Given the description of an element on the screen output the (x, y) to click on. 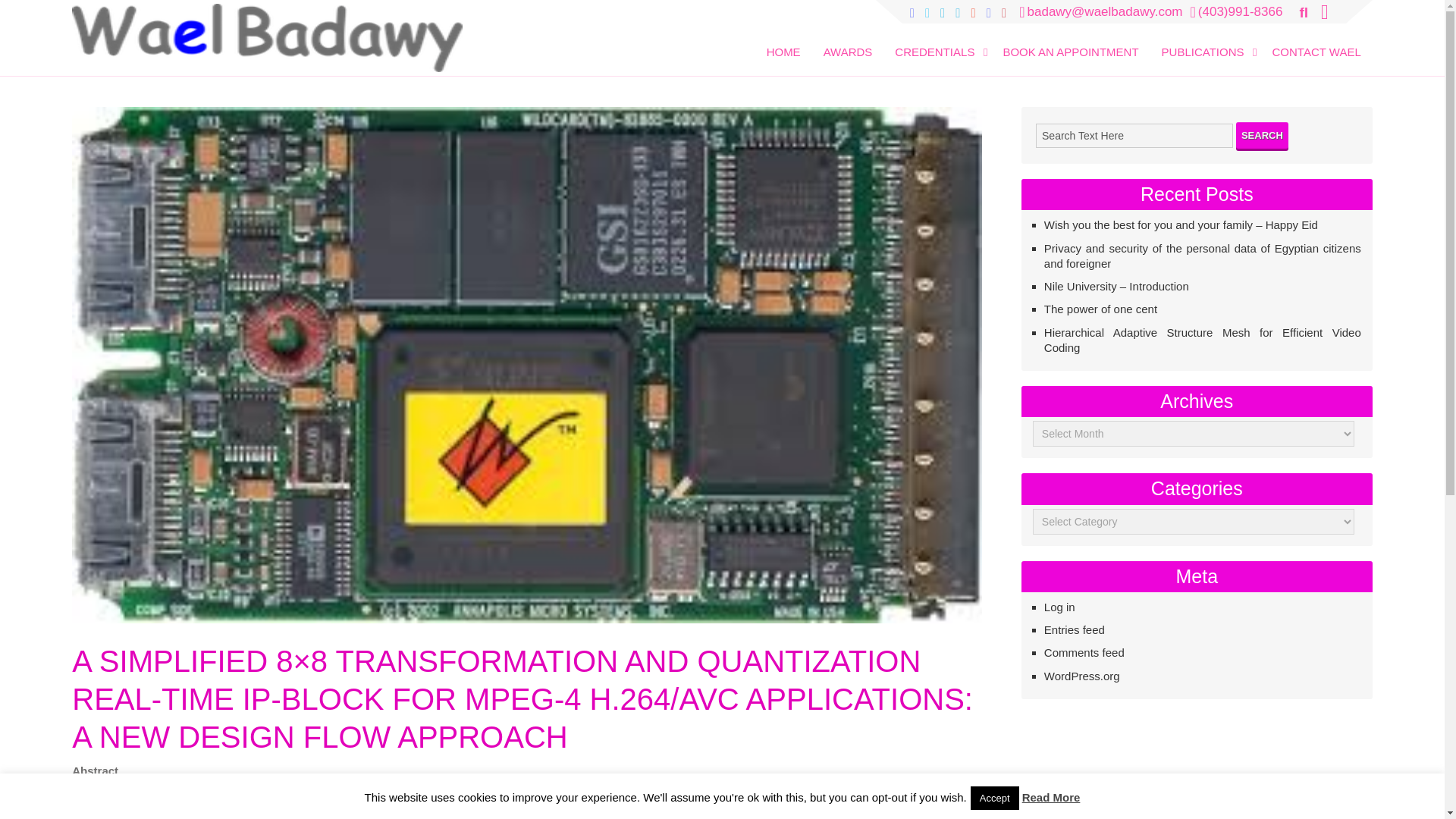
Search (32, 13)
AWARDS (847, 41)
CREDENTIALS (936, 41)
PUBLICATIONS (1205, 41)
Search (1262, 135)
BOOK AN APPOINTMENT (1069, 41)
CONTACT WAEL (1316, 41)
